Given the description of an element on the screen output the (x, y) to click on. 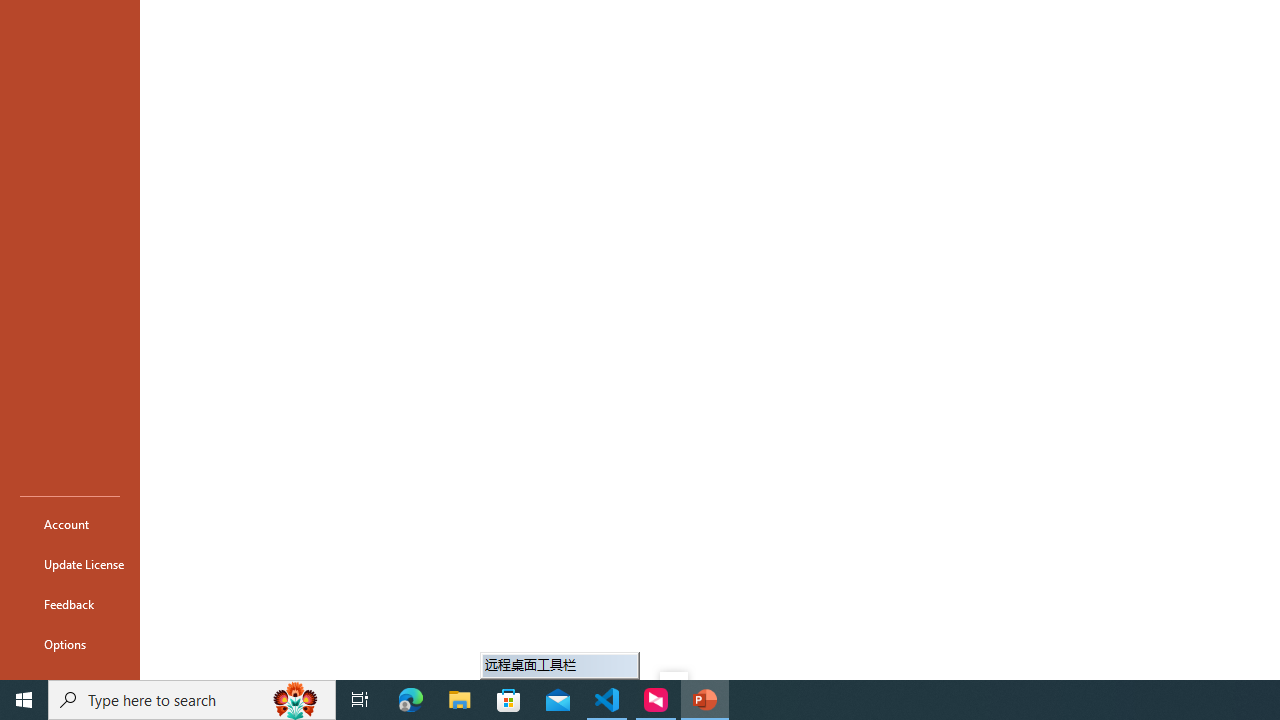
Feedback (69, 603)
Update License (69, 563)
Account (69, 523)
Options (69, 643)
